Given the description of an element on the screen output the (x, y) to click on. 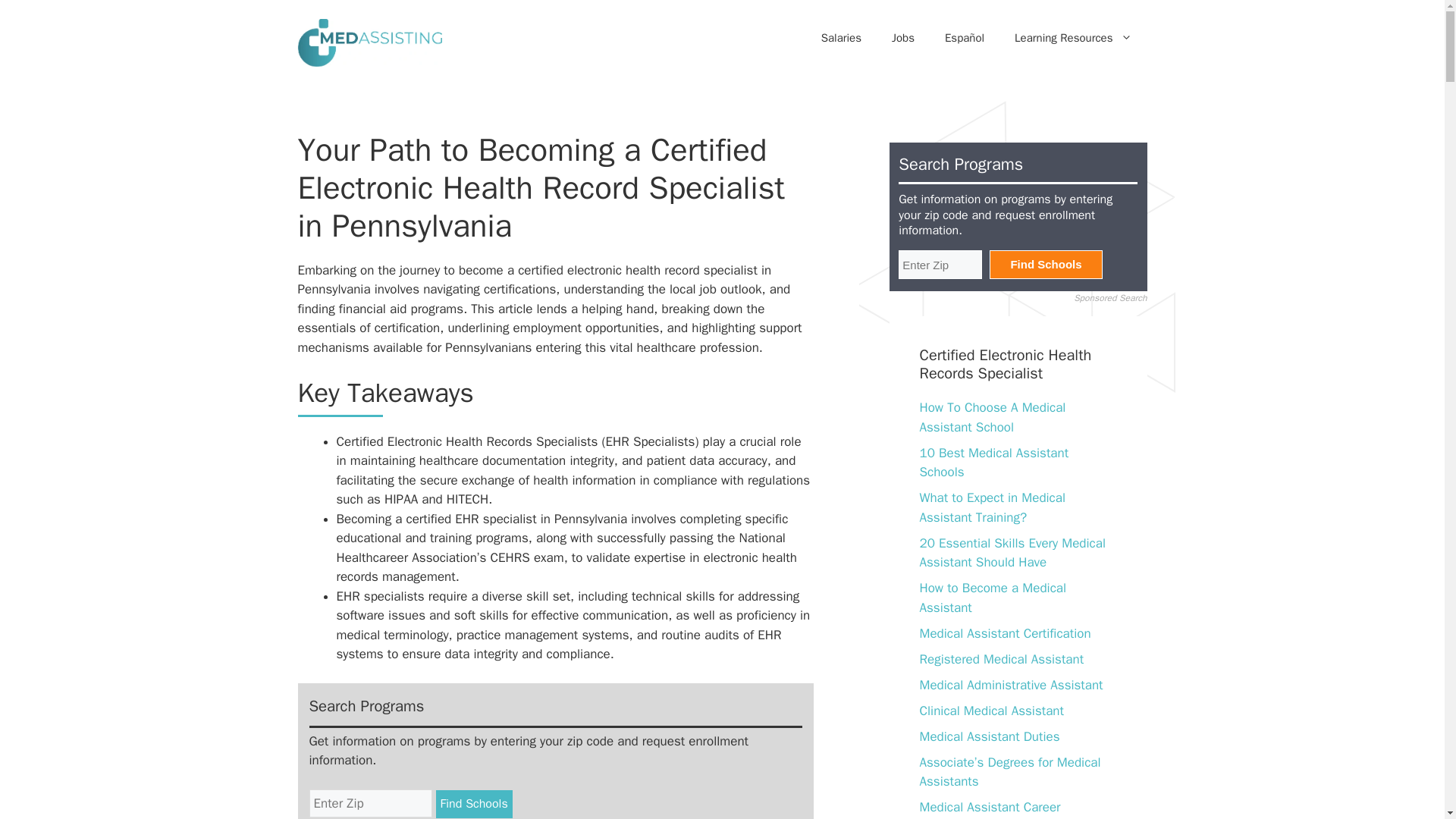
Medical Assistant Duties (988, 736)
Registered Medical Assistant (1000, 659)
Find Schools (473, 804)
Jobs (903, 39)
Medical Administrative Assistant (1010, 684)
How to Become a Medical Assistant (991, 597)
Medical Assistant Certification (1004, 633)
How To Choose A Medical Assistant School (991, 416)
Learning Resources (1072, 39)
Clinical Medical Assistant (990, 710)
